Given the description of an element on the screen output the (x, y) to click on. 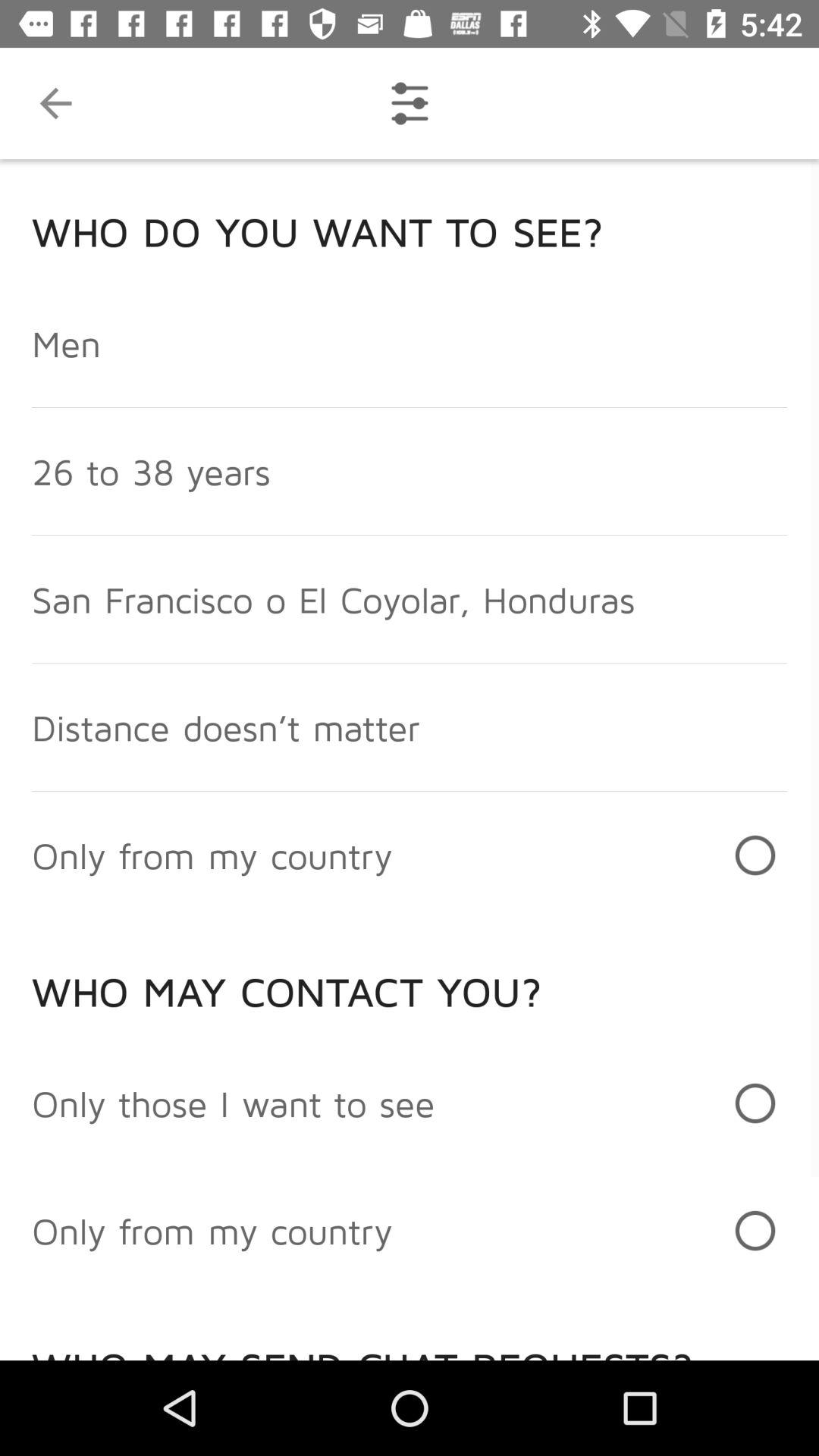
open men (66, 343)
